Given the description of an element on the screen output the (x, y) to click on. 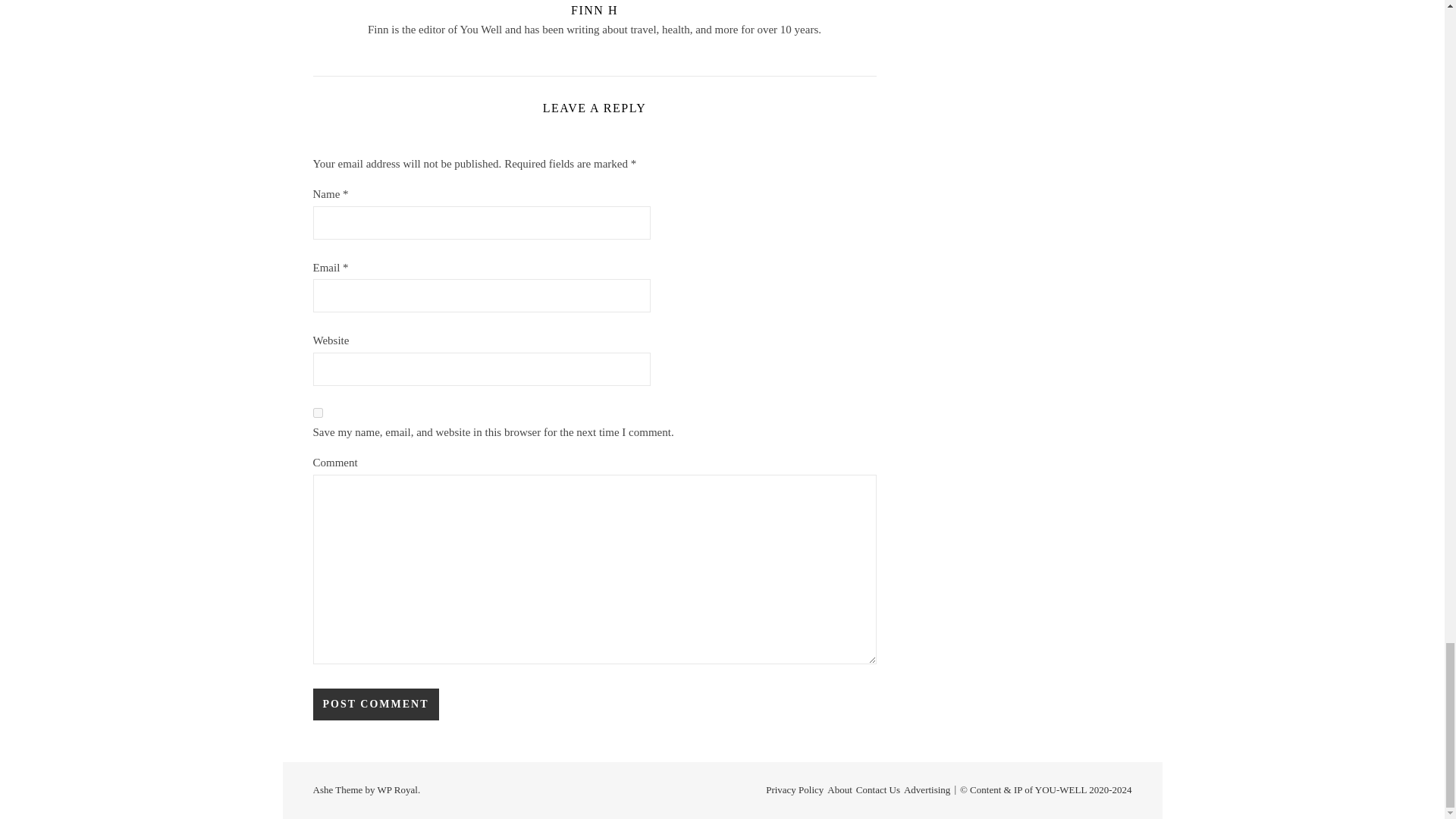
yes (317, 412)
Post Comment (375, 704)
Posts by Finn H (593, 10)
